Given the description of an element on the screen output the (x, y) to click on. 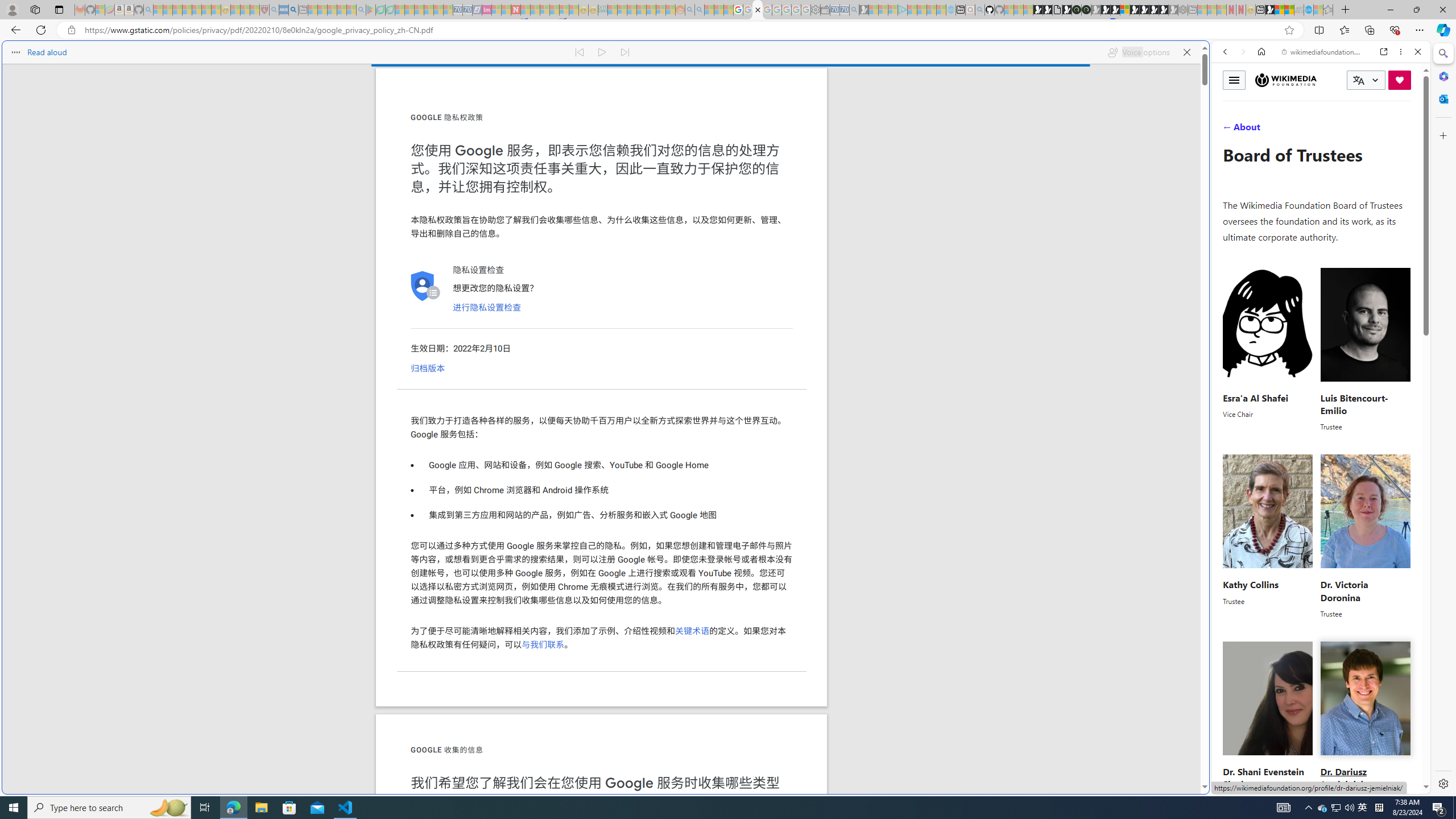
Dr. Shani Evenstein Sigalov (1262, 777)
